Given the description of an element on the screen output the (x, y) to click on. 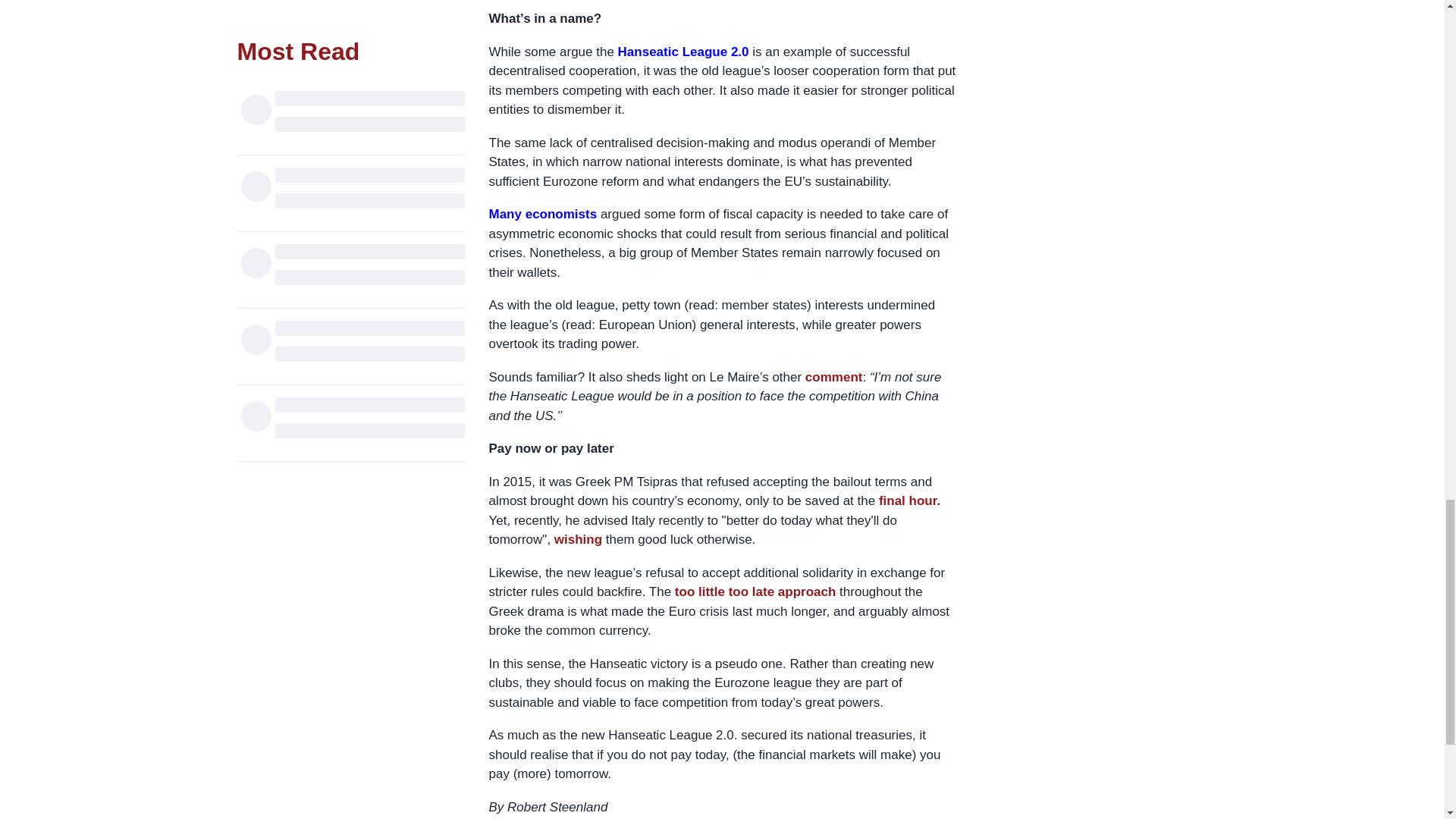
wishing (578, 539)
final hour. (909, 500)
Many economists (541, 214)
too little too late approach (755, 591)
Hanseatic League 2.0 (683, 51)
comment (834, 377)
